Given the description of an element on the screen output the (x, y) to click on. 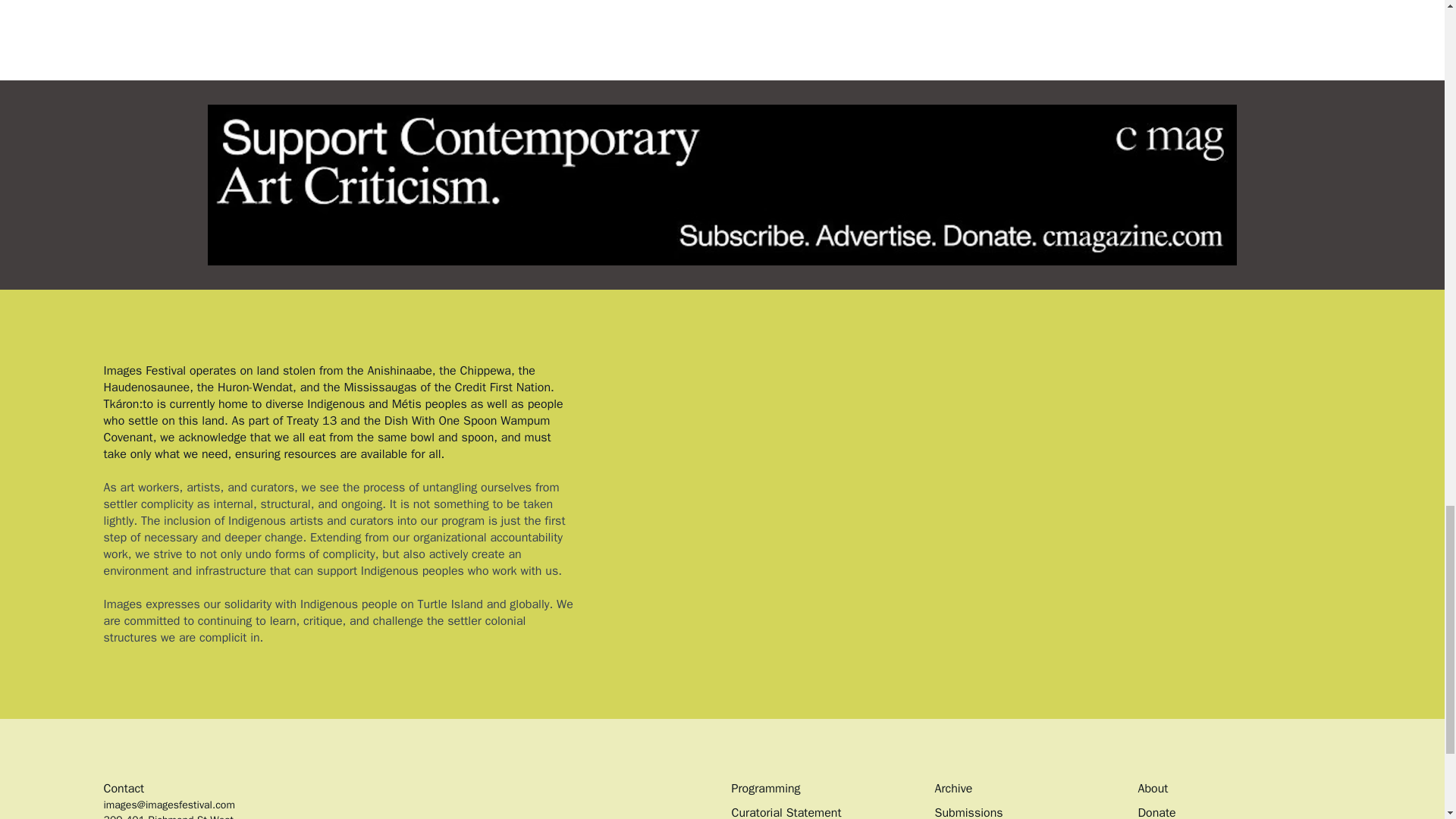
Submissions (968, 812)
About (1152, 788)
Curatorial Statement (785, 812)
Programming (764, 788)
Donate (1155, 812)
Archive (953, 788)
